Given the description of an element on the screen output the (x, y) to click on. 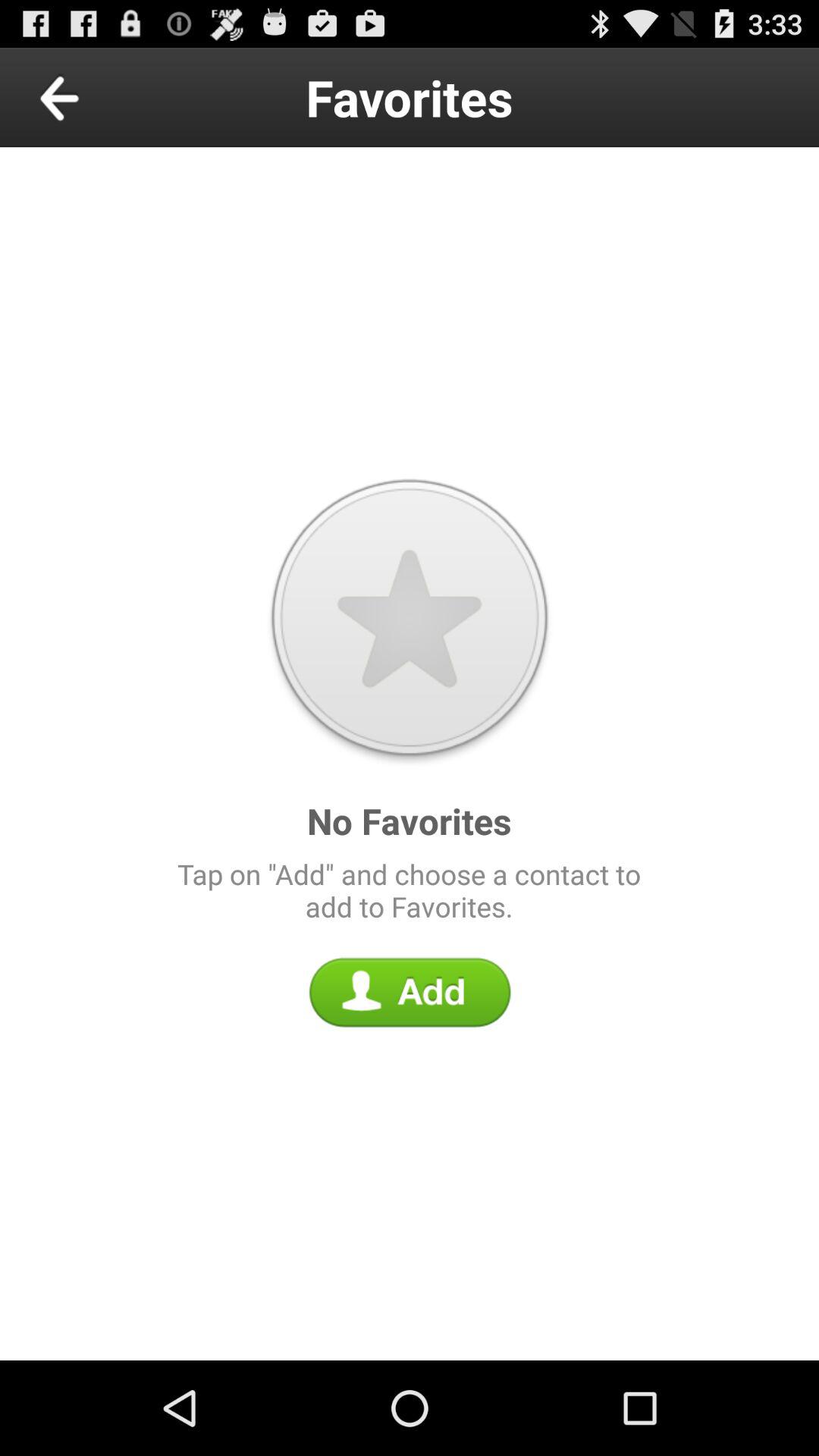
go to add option (409, 992)
